Given the description of an element on the screen output the (x, y) to click on. 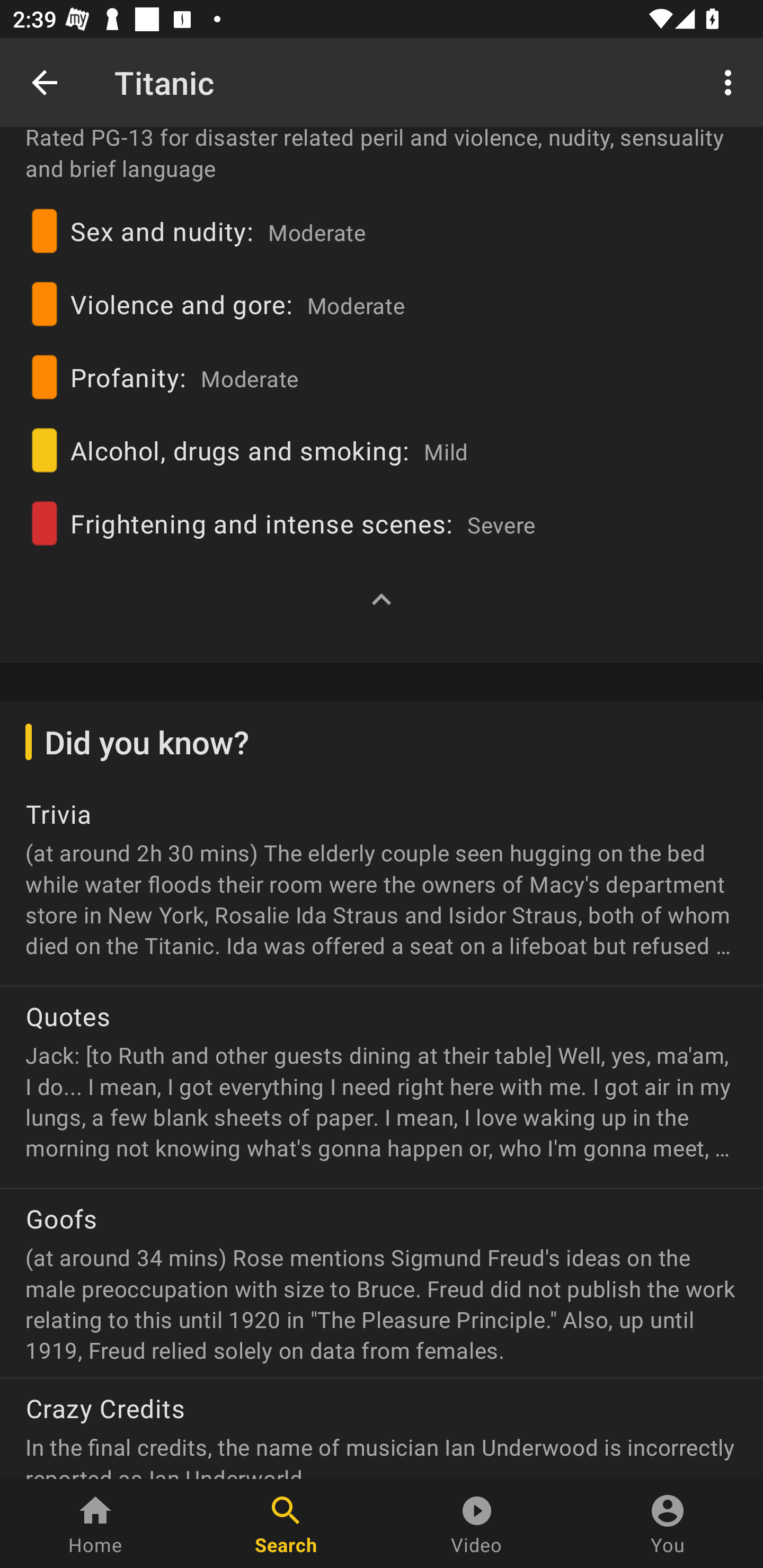
More options (731, 81)
Home (95, 1523)
Video (476, 1523)
You (667, 1523)
